Given the description of an element on the screen output the (x, y) to click on. 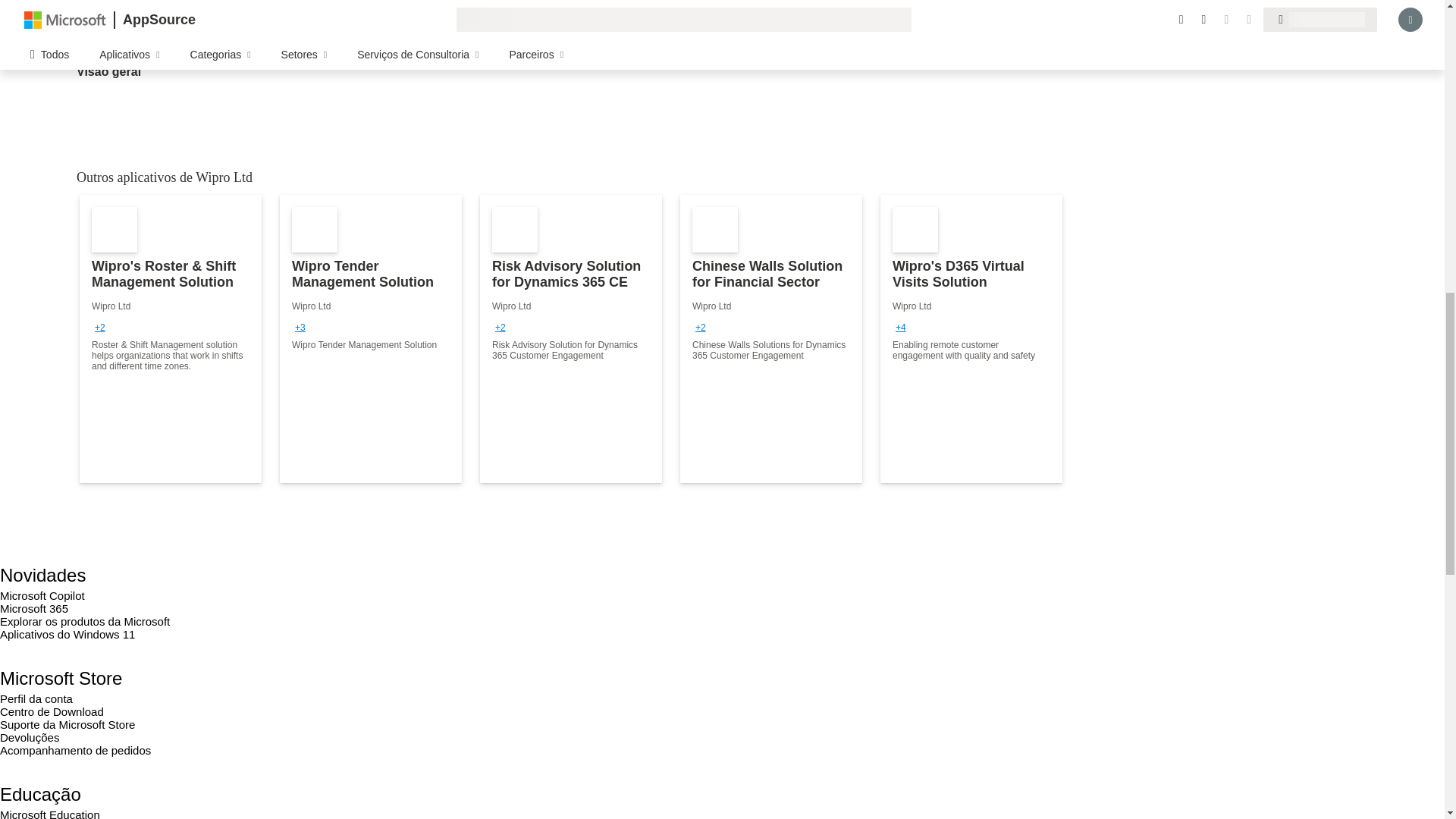
Explorar os produtos da Microsoft (85, 621)
Microsoft Education (50, 813)
Microsoft 365 (34, 608)
Aplicativos do Windows 11 (67, 634)
Microsoft Copilot (42, 594)
Centro de Download (51, 711)
Acompanhamento de pedidos (75, 749)
Suporte da Microsoft Store (67, 724)
Perfil da conta (36, 698)
